Given the description of an element on the screen output the (x, y) to click on. 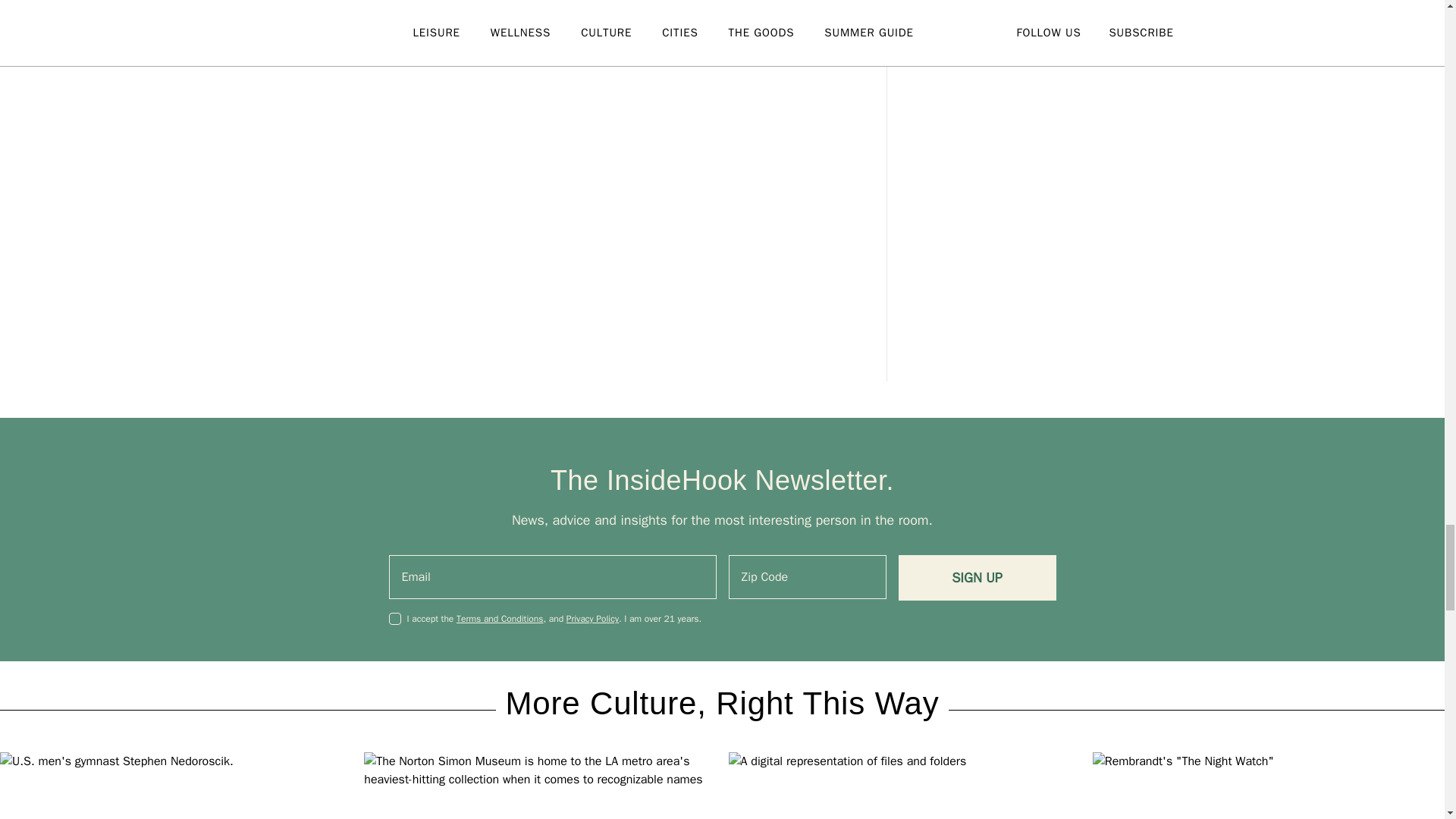
on (394, 618)
